Given the description of an element on the screen output the (x, y) to click on. 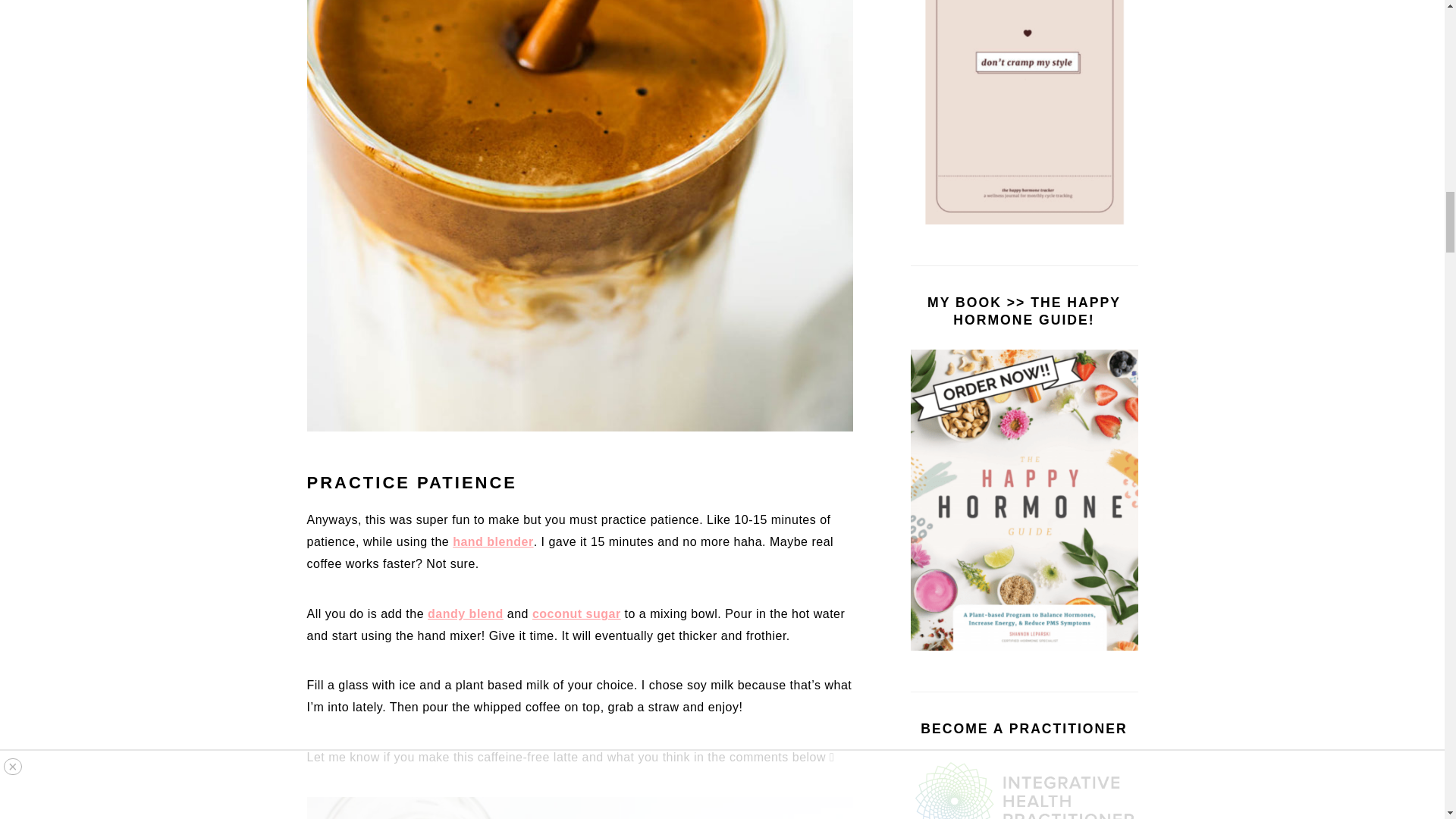
The Happy Hormone Tracker (1023, 112)
